Given the description of an element on the screen output the (x, y) to click on. 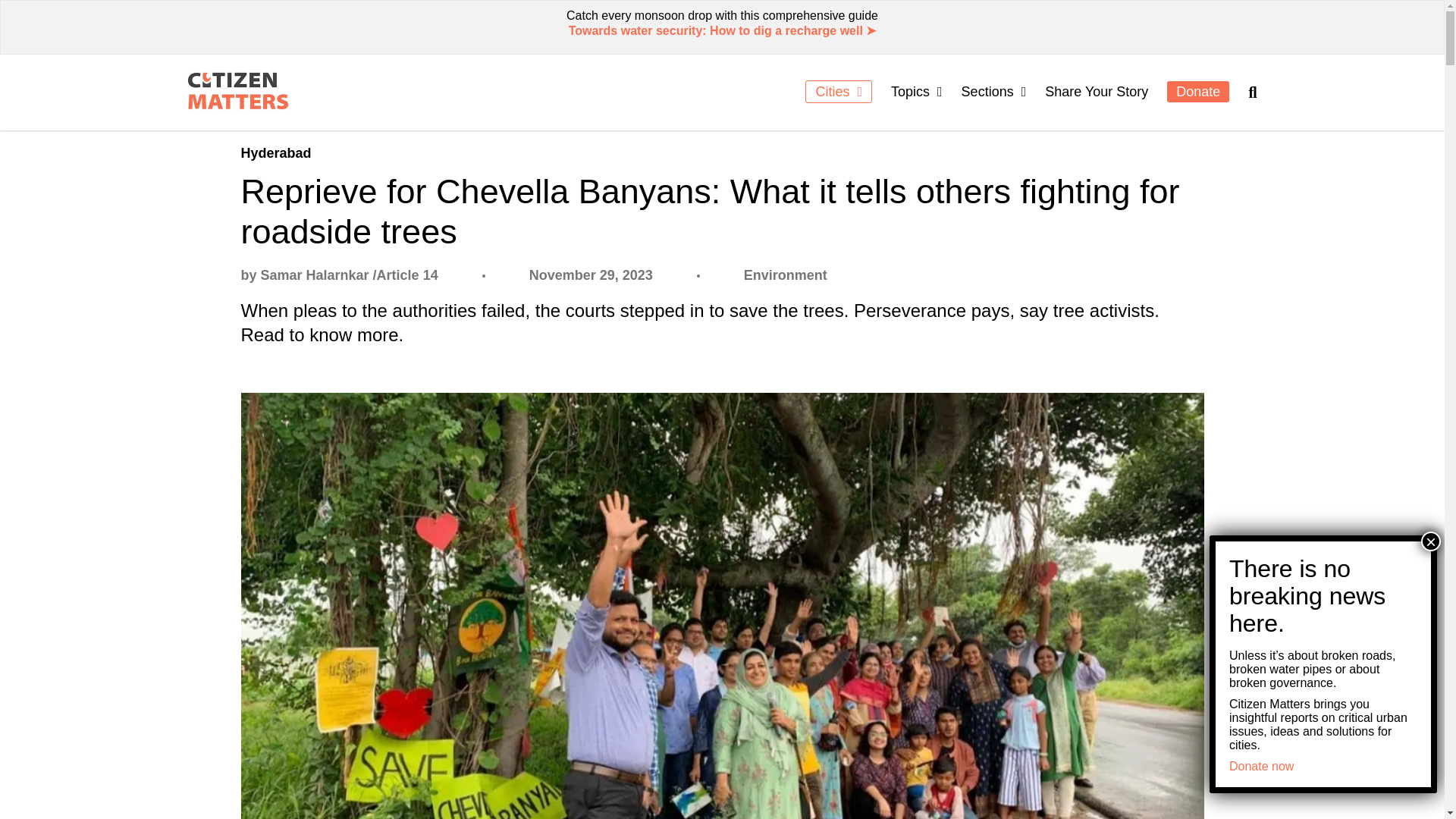
Cities (838, 91)
